Given the description of an element on the screen output the (x, y) to click on. 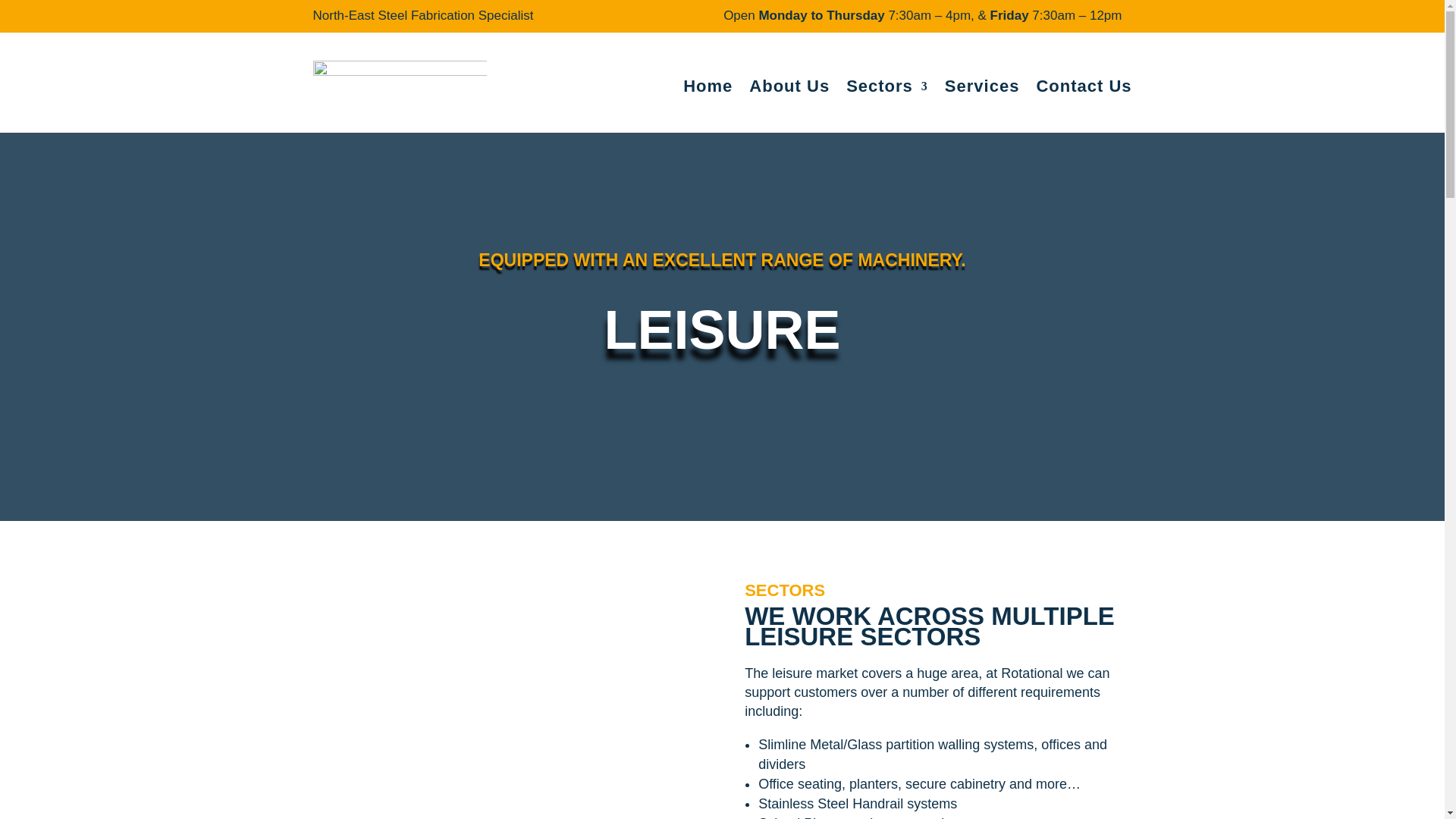
Services (982, 86)
Contact Us (1083, 86)
Sectors (886, 86)
About Us (789, 86)
